Given the description of an element on the screen output the (x, y) to click on. 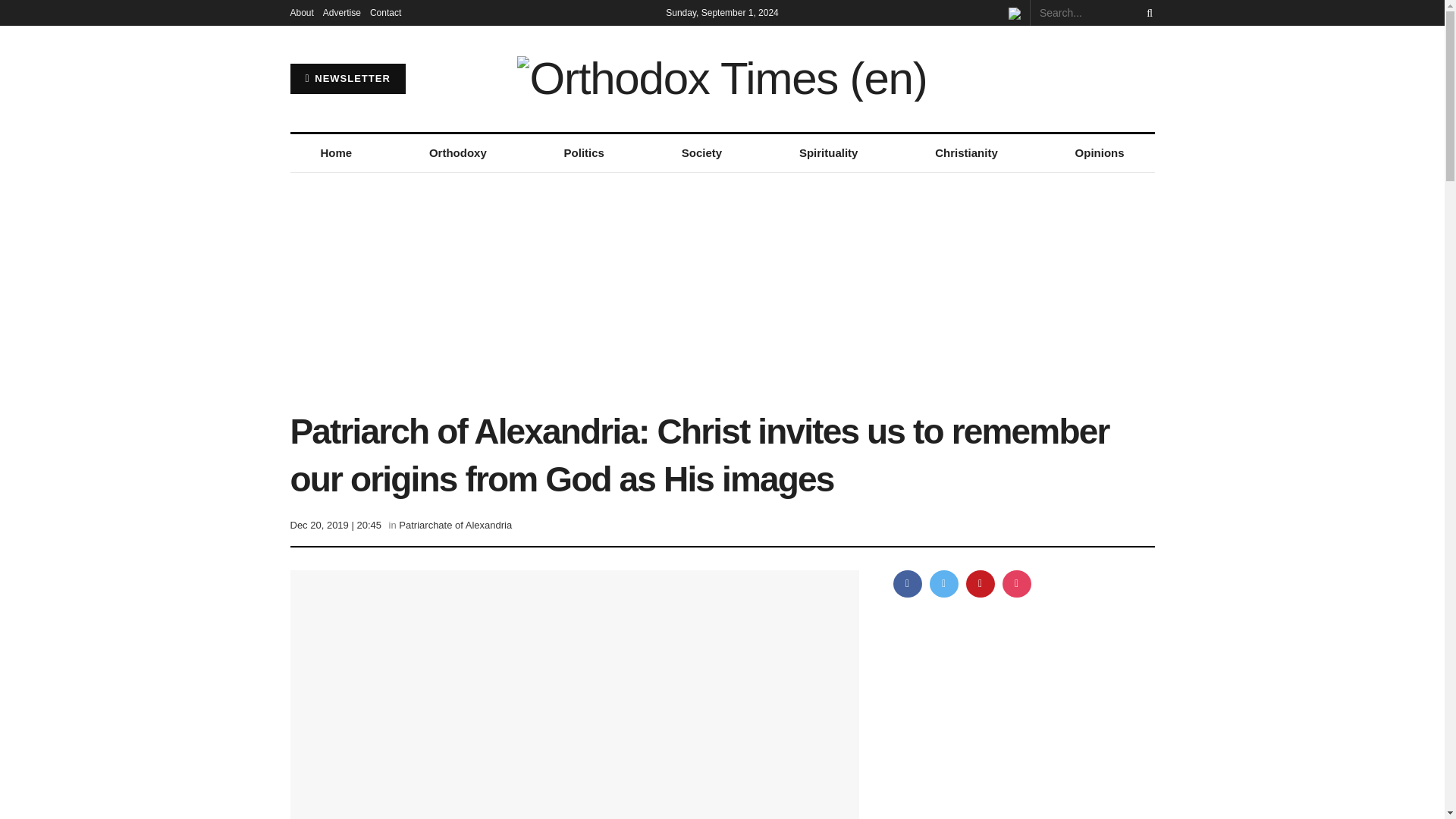
Politics (584, 152)
Spirituality (828, 152)
Orthodoxy (457, 152)
NEWSLETTER (346, 78)
Contact (385, 12)
Advertise (342, 12)
About (301, 12)
Home (335, 152)
Society (701, 152)
